Given the description of an element on the screen output the (x, y) to click on. 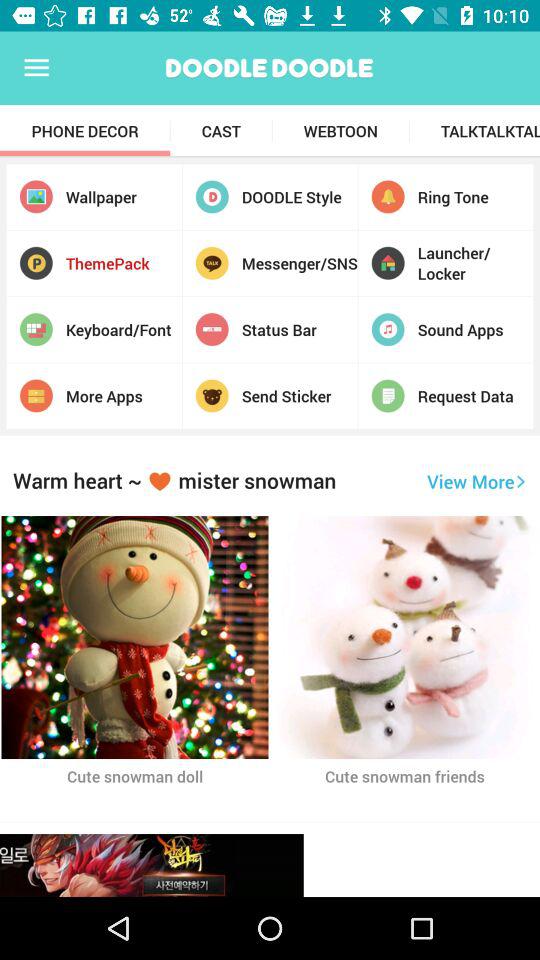
turn on item to the left of the webtoon (221, 131)
